Given the description of an element on the screen output the (x, y) to click on. 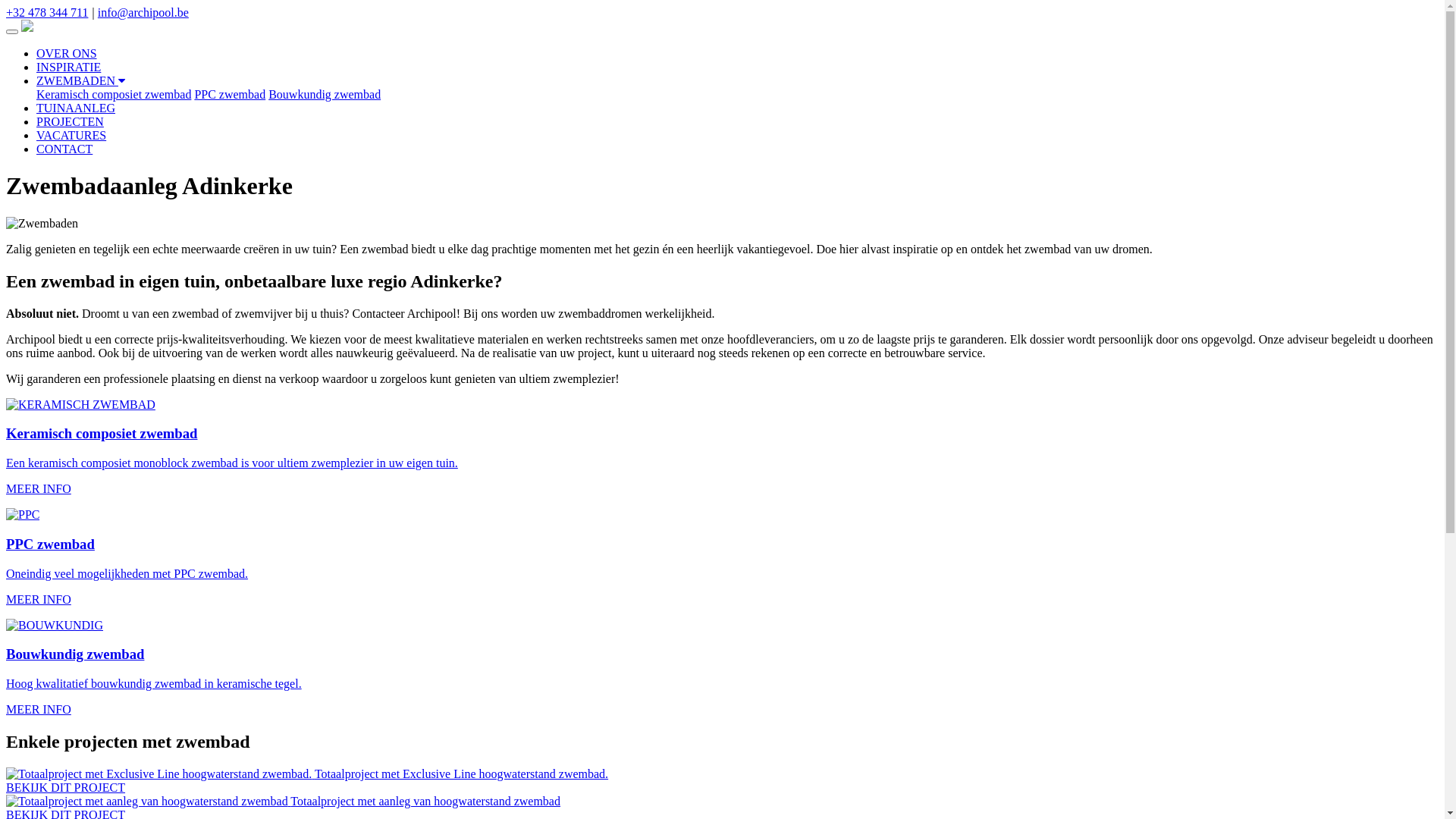
+32 478 344 711 Element type: text (46, 12)
TUINAANLEG Element type: text (75, 107)
info@archipool.be Element type: text (142, 12)
Bouwkundig zwembad Element type: text (324, 93)
VACATURES Element type: text (71, 134)
CONTACT Element type: text (64, 148)
PPC zwembad Element type: text (229, 93)
OVER ONS Element type: text (66, 53)
PROJECTEN Element type: text (69, 121)
INSPIRATIE Element type: text (68, 66)
Keramisch composiet zwembad Element type: text (113, 93)
ZWEMBADEN Element type: text (80, 80)
